Given the description of an element on the screen output the (x, y) to click on. 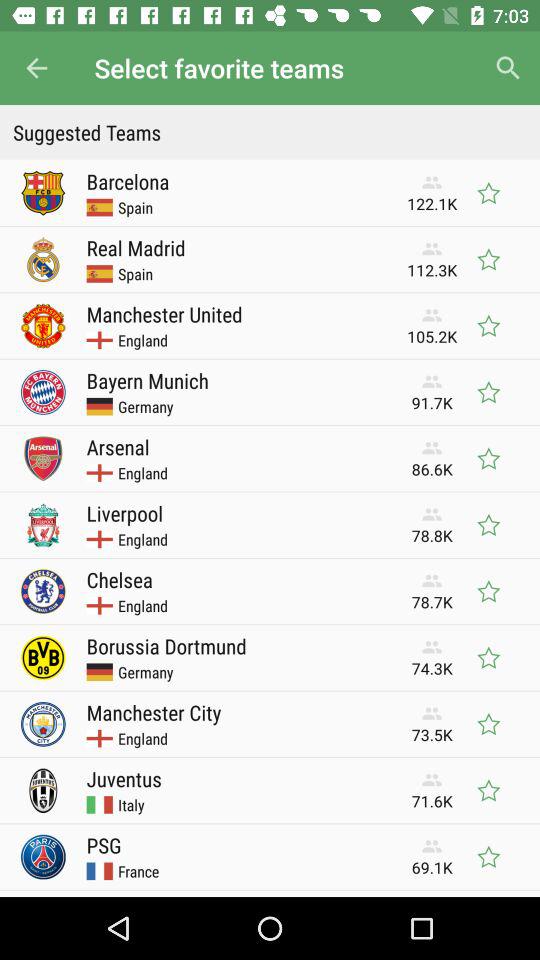
tap icon to the left of 86.6k icon (117, 446)
